Given the description of an element on the screen output the (x, y) to click on. 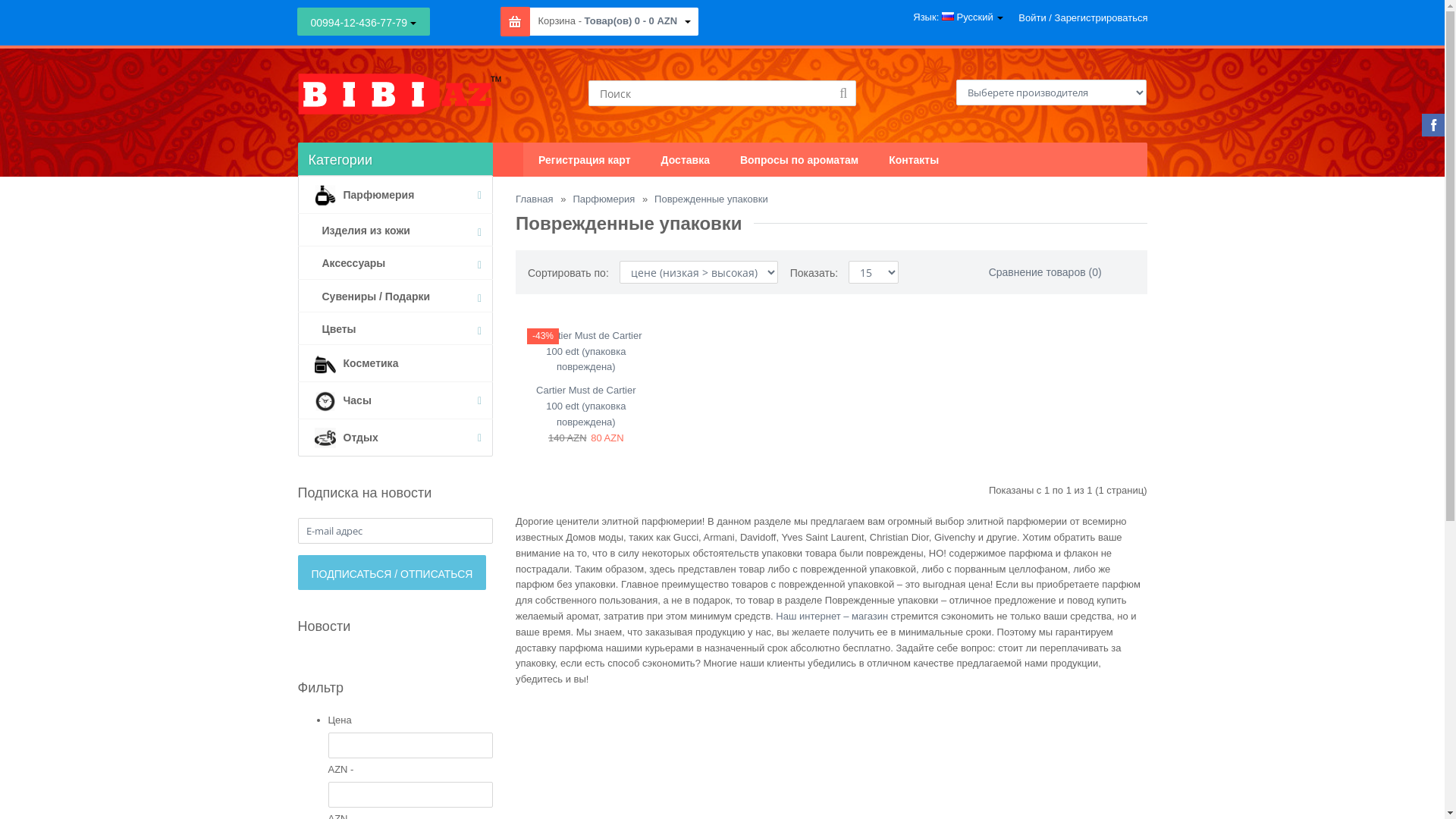
Bibi.az Element type: hover (398, 93)
00994-12-436-77-79 Element type: text (363, 21)
